Given the description of an element on the screen output the (x, y) to click on. 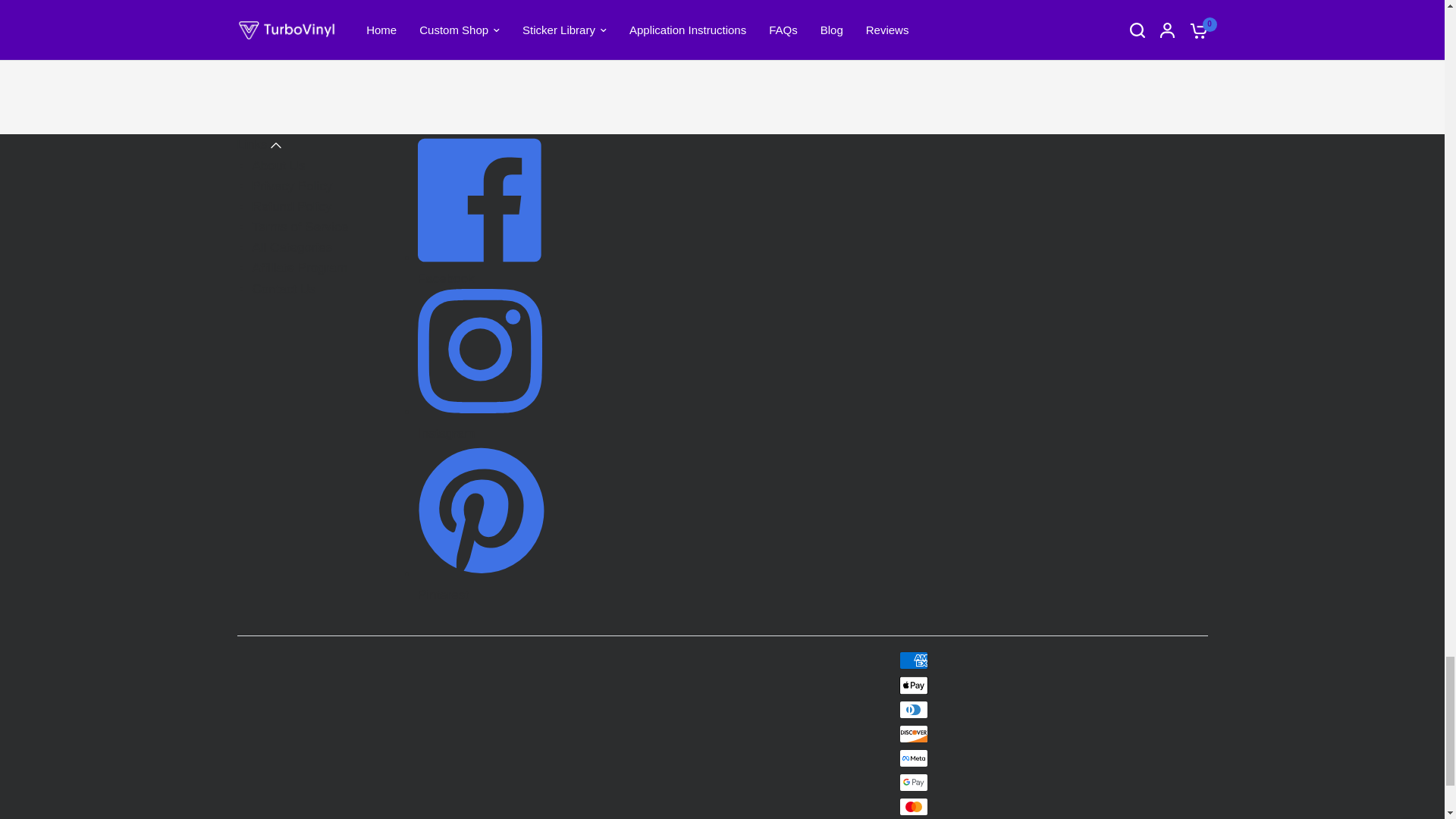
Google Pay (913, 782)
American Express (913, 660)
Apple Pay (913, 685)
Meta Pay (913, 758)
Diners Club (913, 710)
Discover (913, 733)
